Given the description of an element on the screen output the (x, y) to click on. 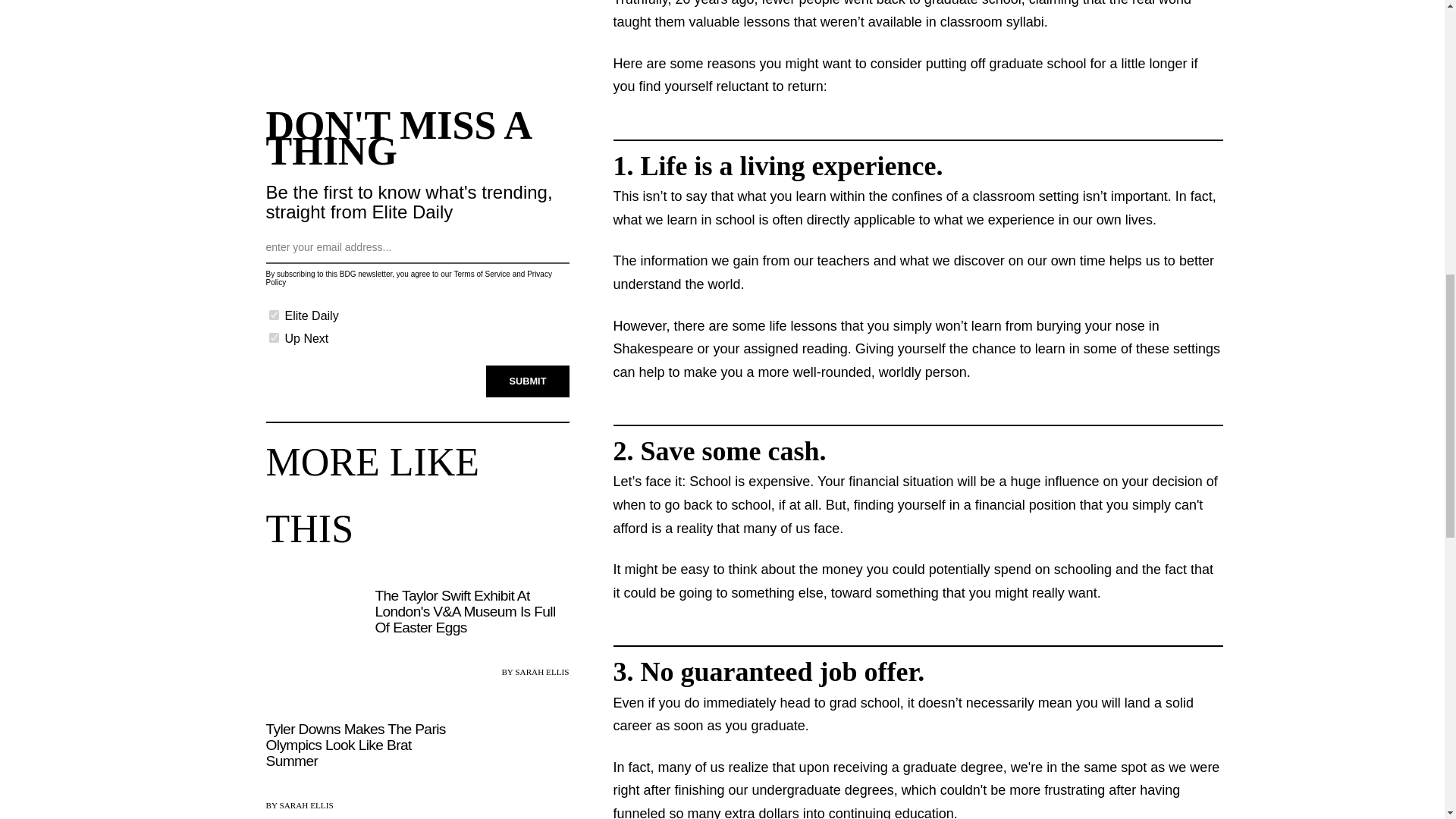
SUBMIT (527, 374)
Terms of Service (480, 268)
Privacy Policy (407, 273)
